Given the description of an element on the screen output the (x, y) to click on. 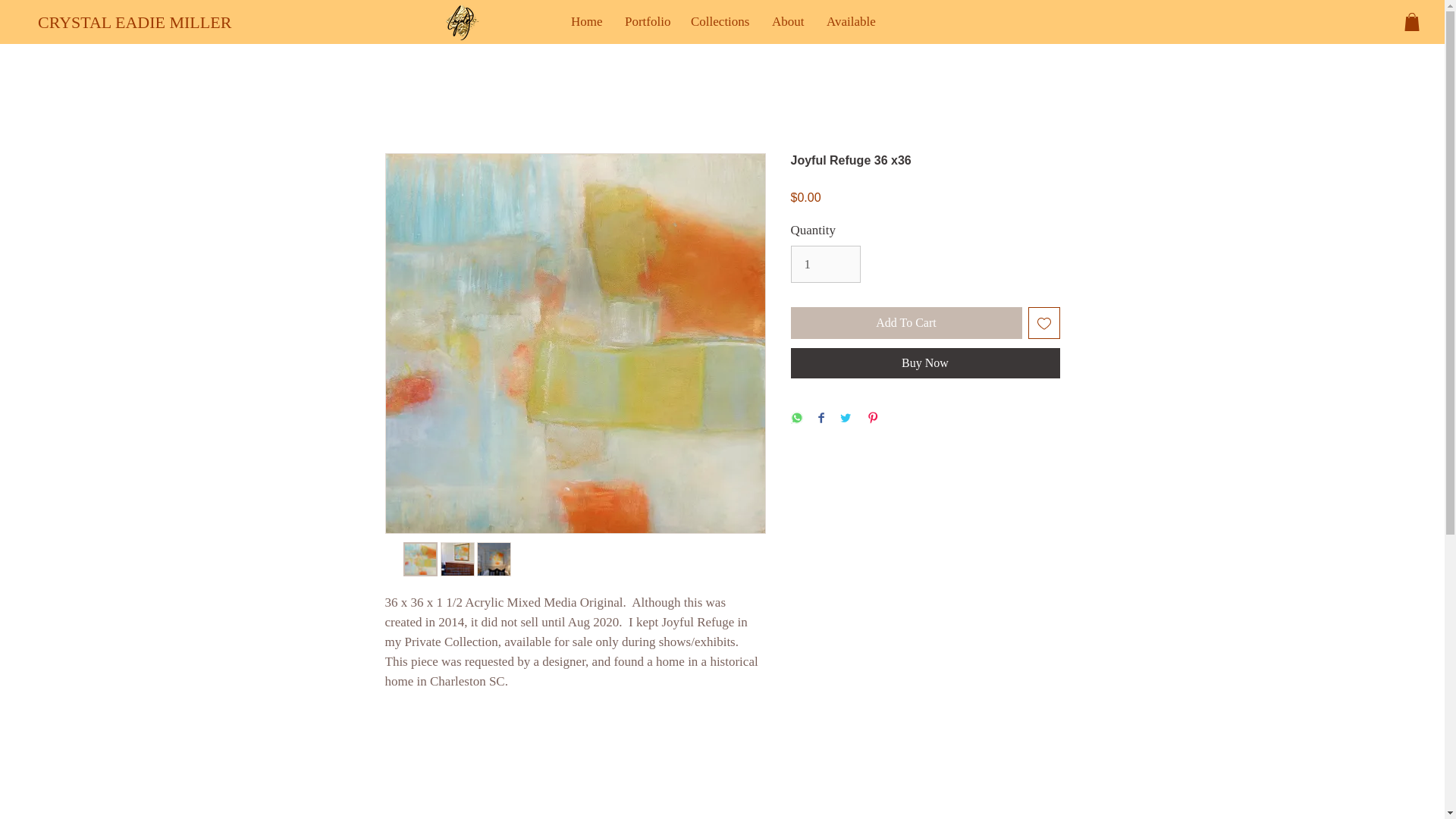
Collections (719, 21)
1 (825, 263)
Available (849, 21)
Portfolio (645, 21)
Home (585, 21)
Add To Cart (906, 323)
CRYSTAL EADIE MILLER (134, 22)
Buy Now (924, 363)
